Given the description of an element on the screen output the (x, y) to click on. 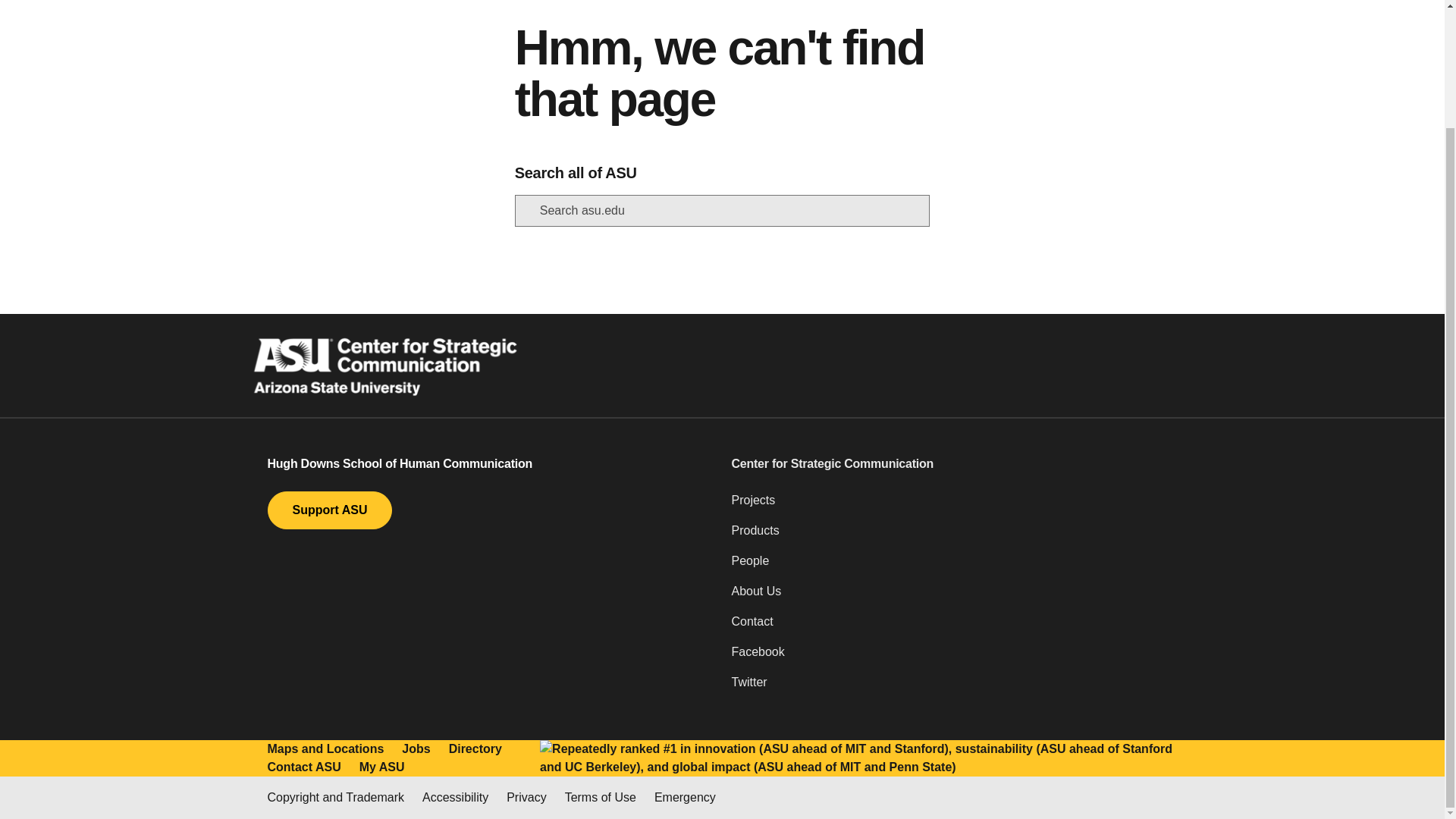
Twitter (953, 688)
Emergency (684, 797)
Center for Strategic Communication (953, 464)
Projects (953, 506)
Contact (953, 627)
Products (953, 536)
Privacy (526, 797)
Copyright and Trademark (335, 797)
Accessibility (454, 797)
Directory (475, 749)
